Given the description of an element on the screen output the (x, y) to click on. 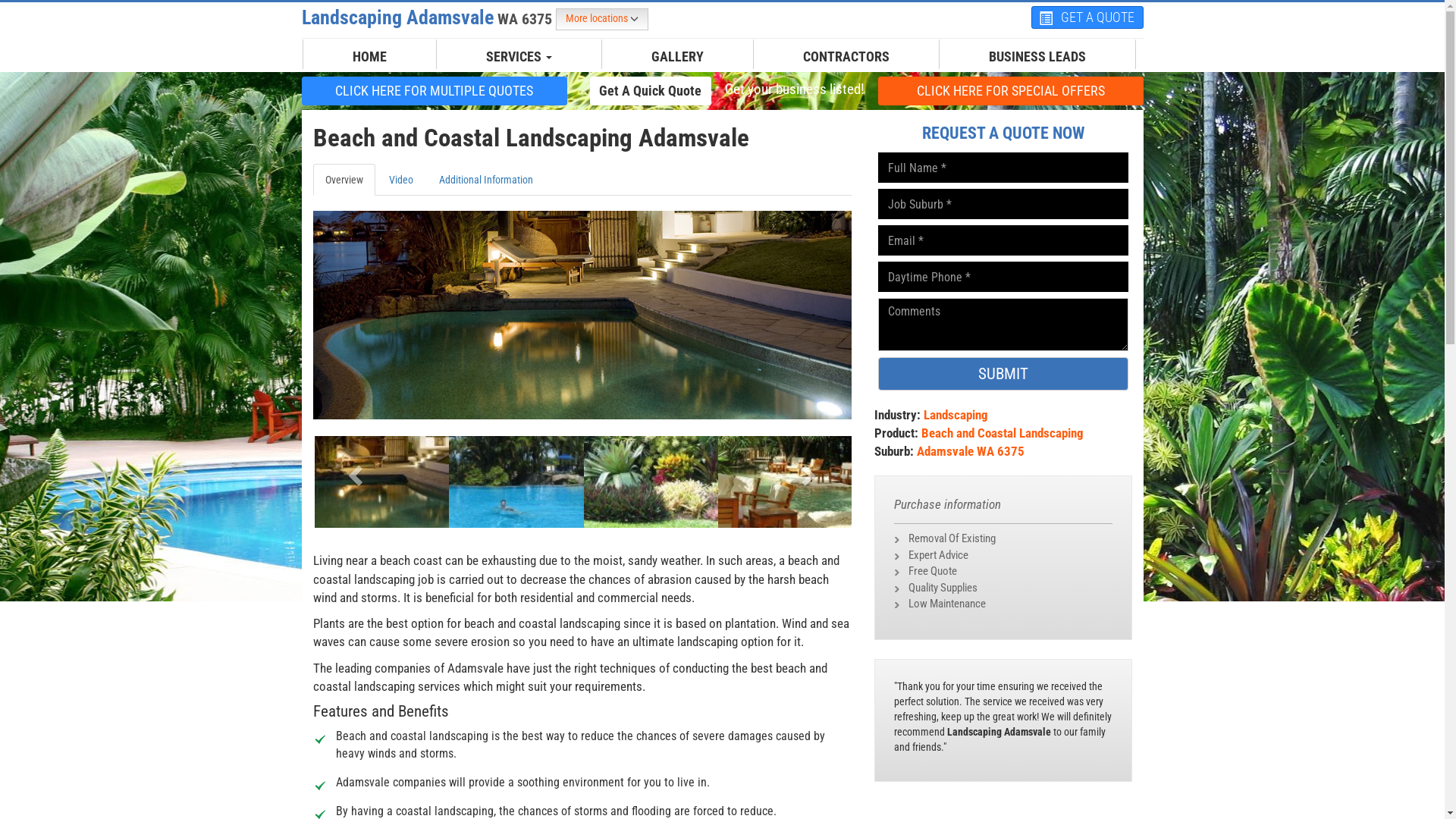
GALLERY Element type: text (677, 56)
Overview Element type: text (343, 179)
GET A QUOTE Element type: text (1087, 17)
Get your business listed! Element type: text (793, 89)
CLICK HERE FOR MULTIPLE QUOTES Element type: text (434, 90)
Additional Information Element type: text (485, 179)
prev Element type: hover (352, 470)
SERVICES Element type: text (518, 56)
CONTRACTORS Element type: text (845, 56)
CLICK HERE FOR MULTIPLE QUOTES Element type: text (434, 90)
More locations Element type: text (601, 19)
BUSINESS LEADS Element type: text (1036, 56)
HOME Element type: text (369, 56)
CLICK HERE FOR SPECIAL OFFERS Element type: text (1010, 90)
SUBMIT Element type: text (1003, 373)
Get A Quick Quote Element type: text (650, 90)
CLICK HERE FOR SPECIAL OFFERS Element type: text (1010, 90)
Landscaping Adamsvale WA 6375 Element type: text (428, 17)
Video Element type: text (400, 179)
Get A Quick Quote Element type: text (650, 90)
